Given the description of an element on the screen output the (x, y) to click on. 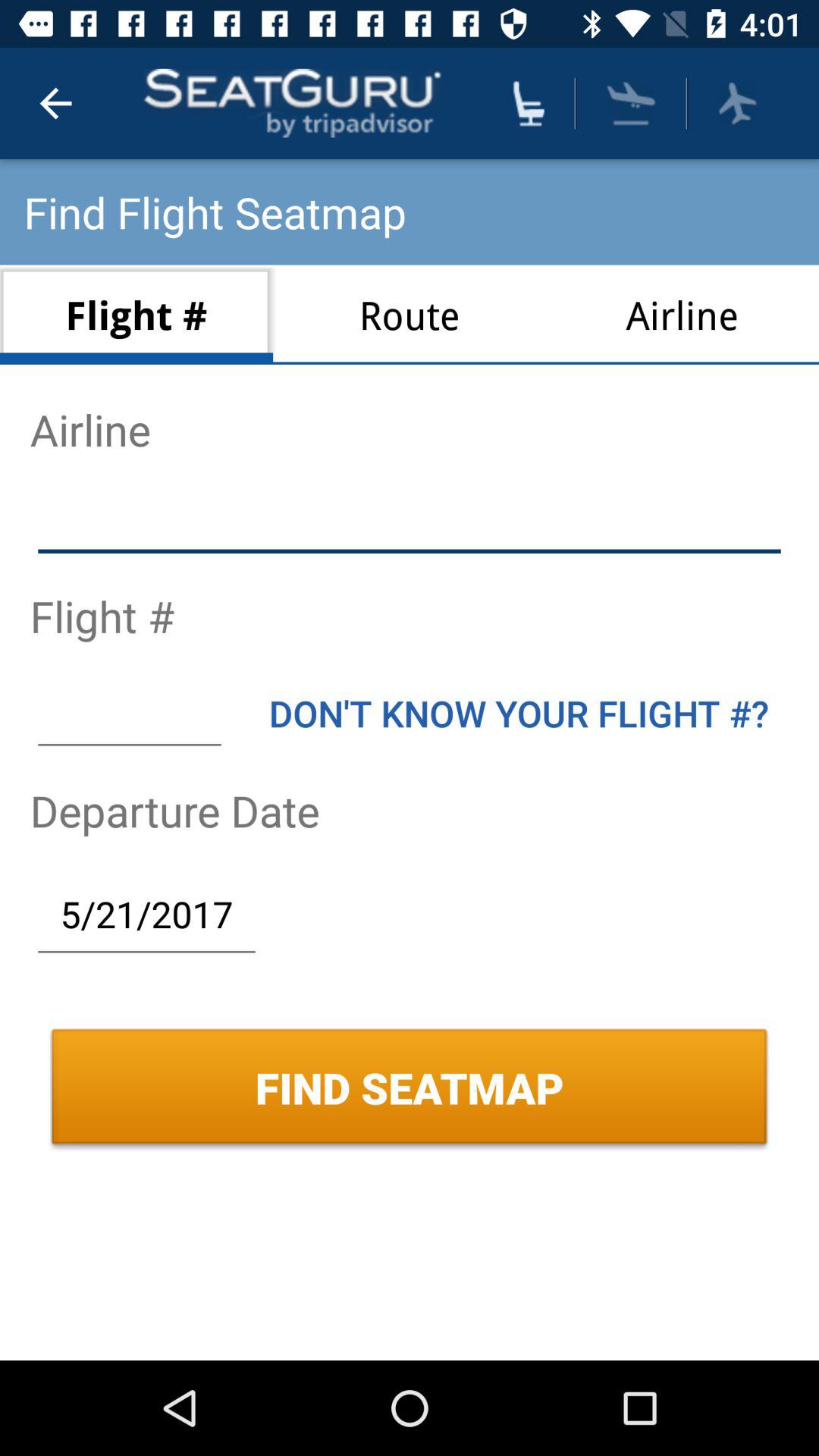
open the item next to the don t know item (129, 712)
